Given the description of an element on the screen output the (x, y) to click on. 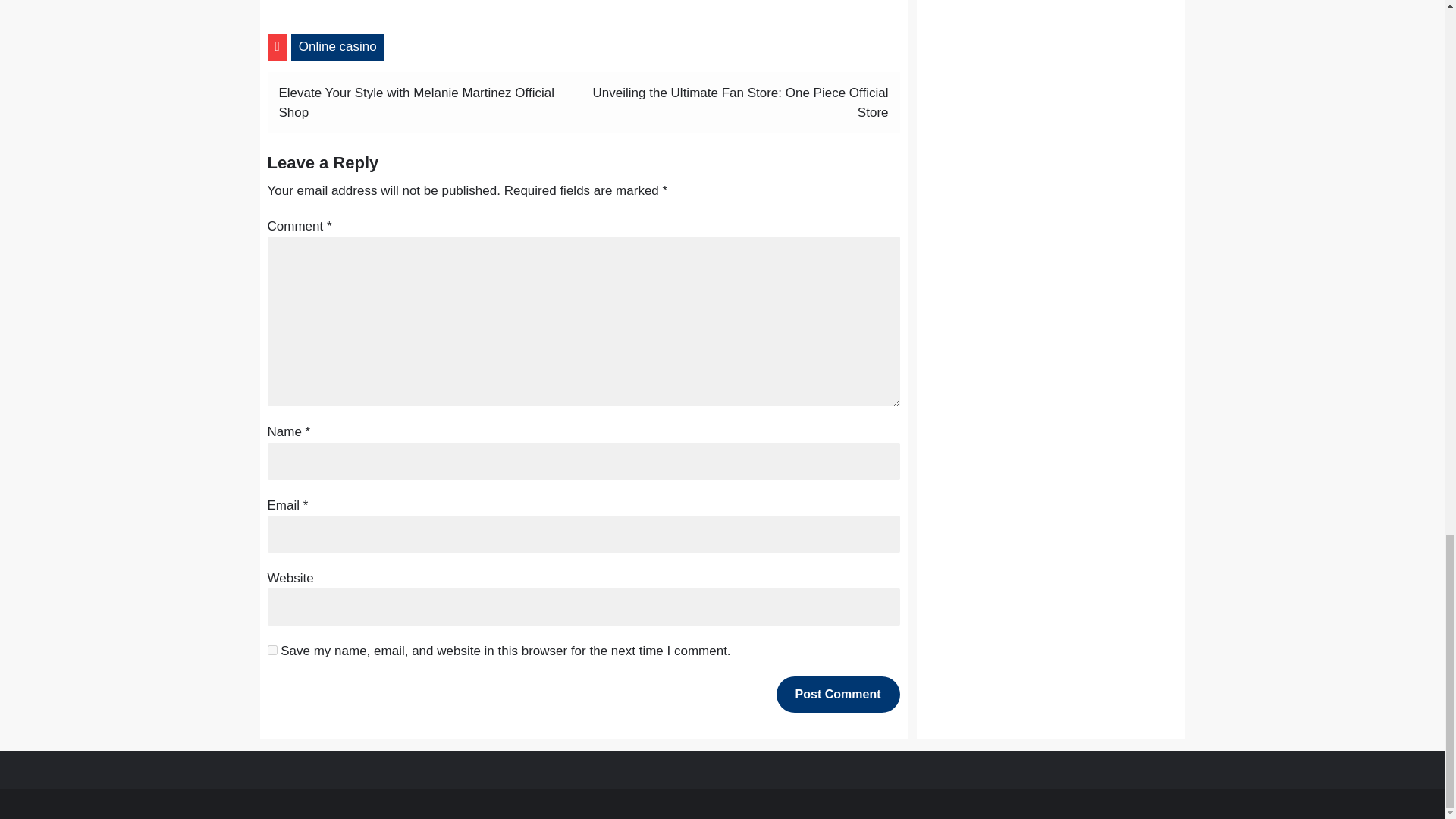
yes (271, 650)
Online casino (337, 46)
Post Comment (837, 694)
Elevate Your Style with Melanie Martinez Official Shop (416, 102)
Post Comment (837, 694)
Unveiling the Ultimate Fan Store: One Piece Official Store (740, 102)
